Given the description of an element on the screen output the (x, y) to click on. 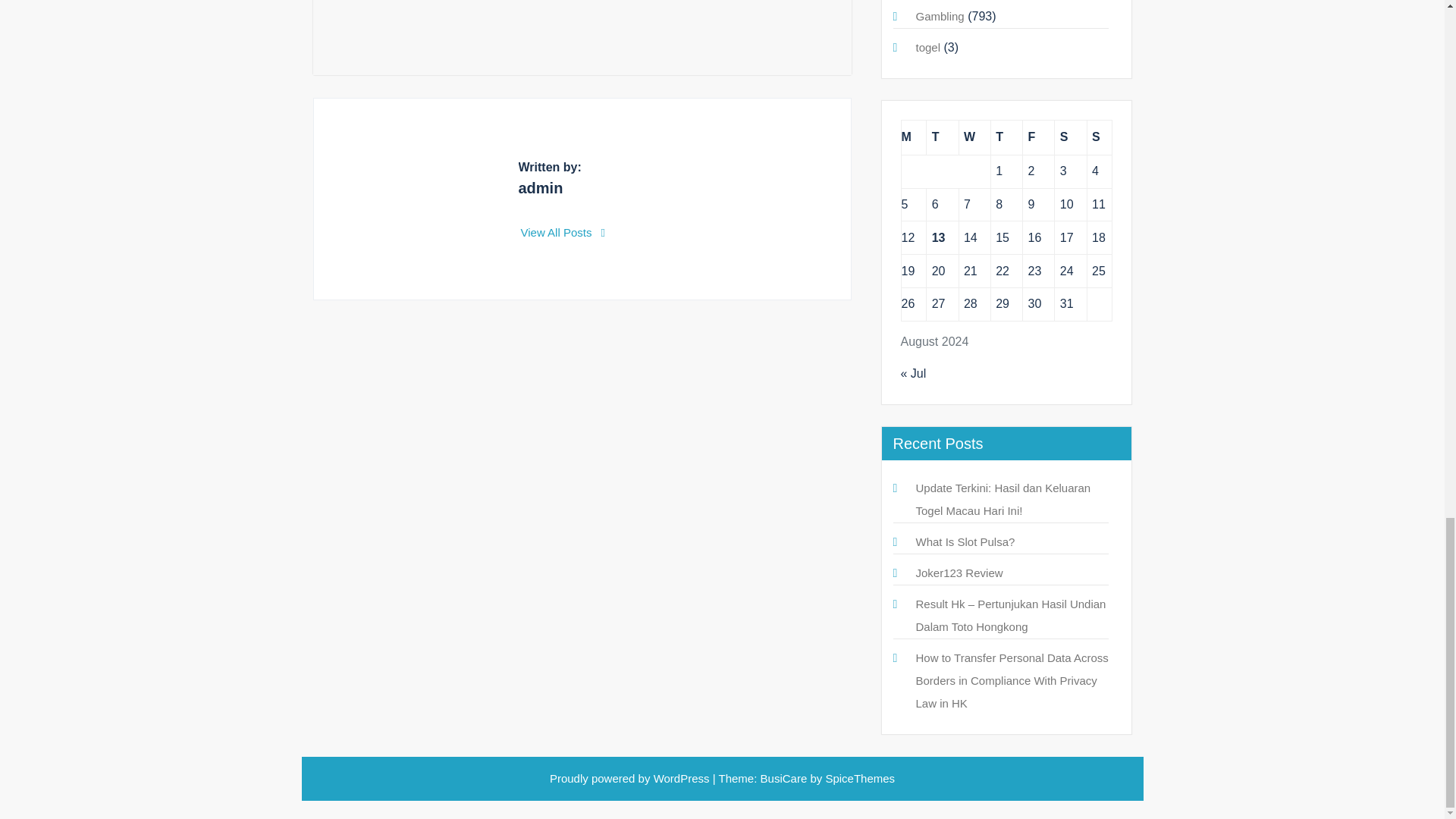
Wednesday (974, 137)
Thursday (1006, 137)
Saturday (1070, 137)
Friday (1038, 137)
View All Posts (562, 232)
Gambling (939, 15)
Tuesday (942, 137)
